Given the description of an element on the screen output the (x, y) to click on. 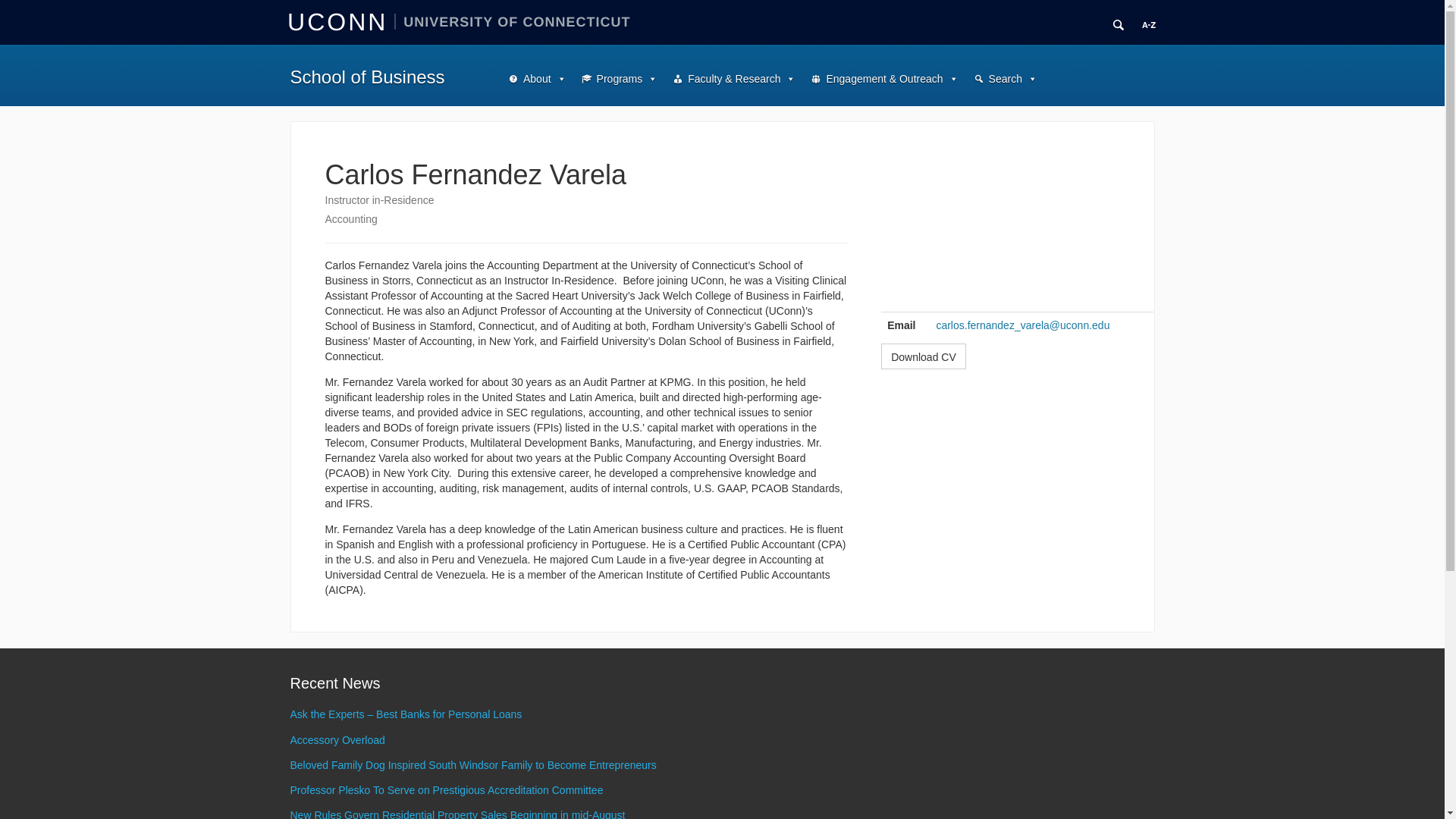
School of Business (366, 76)
Search UConn (1112, 22)
UNIVERSITY OF CONNECTICUT (512, 21)
Programs (619, 78)
UCONN (340, 21)
UConn A to Z Index (1143, 22)
UConn A to Z Index (1148, 24)
About (536, 78)
Search UConn (1117, 24)
